Given the description of an element on the screen output the (x, y) to click on. 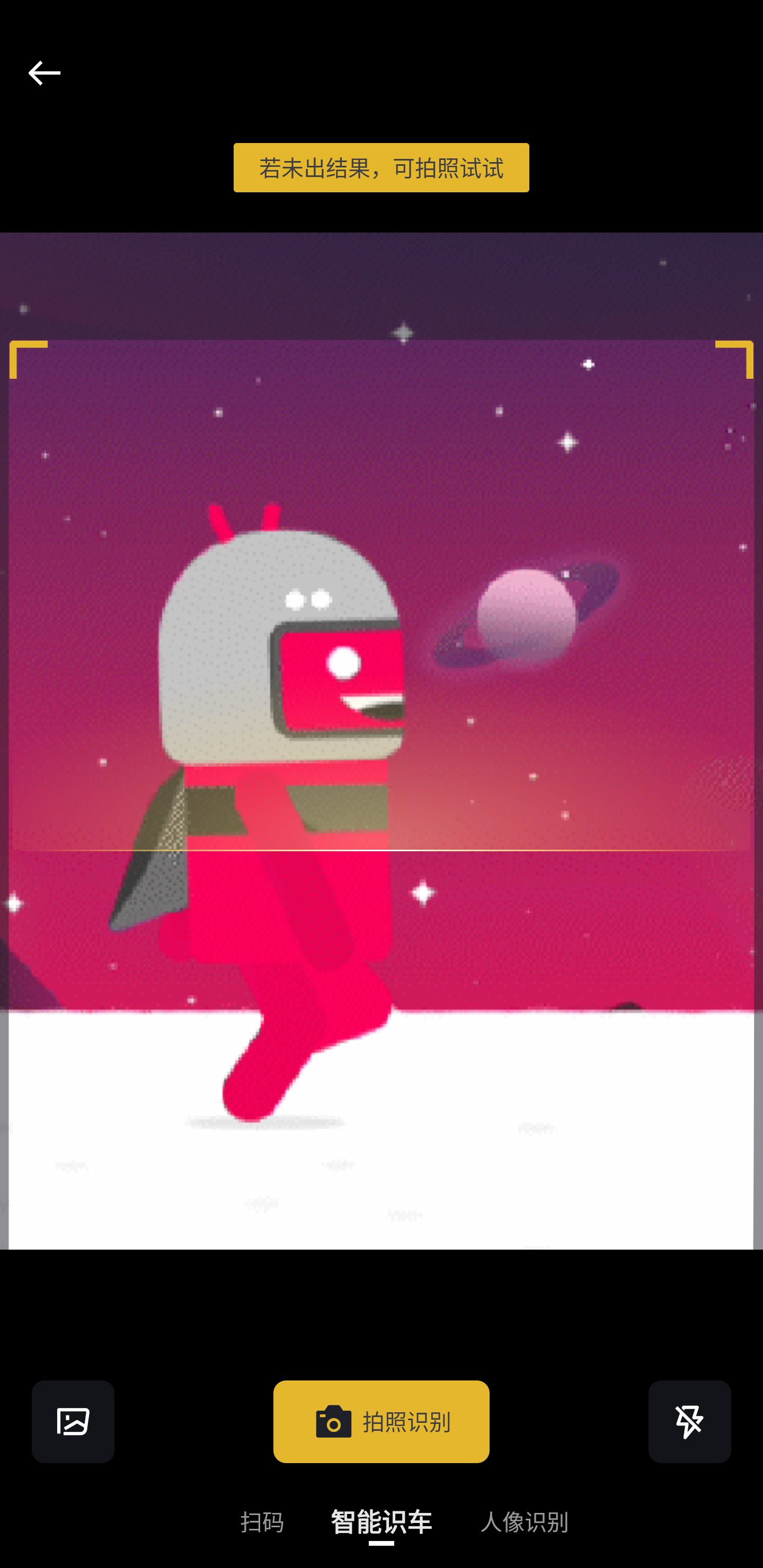
 (44, 72)
 (73, 1420)
拍照识别 (381, 1420)
 (689, 1420)
